Given the description of an element on the screen output the (x, y) to click on. 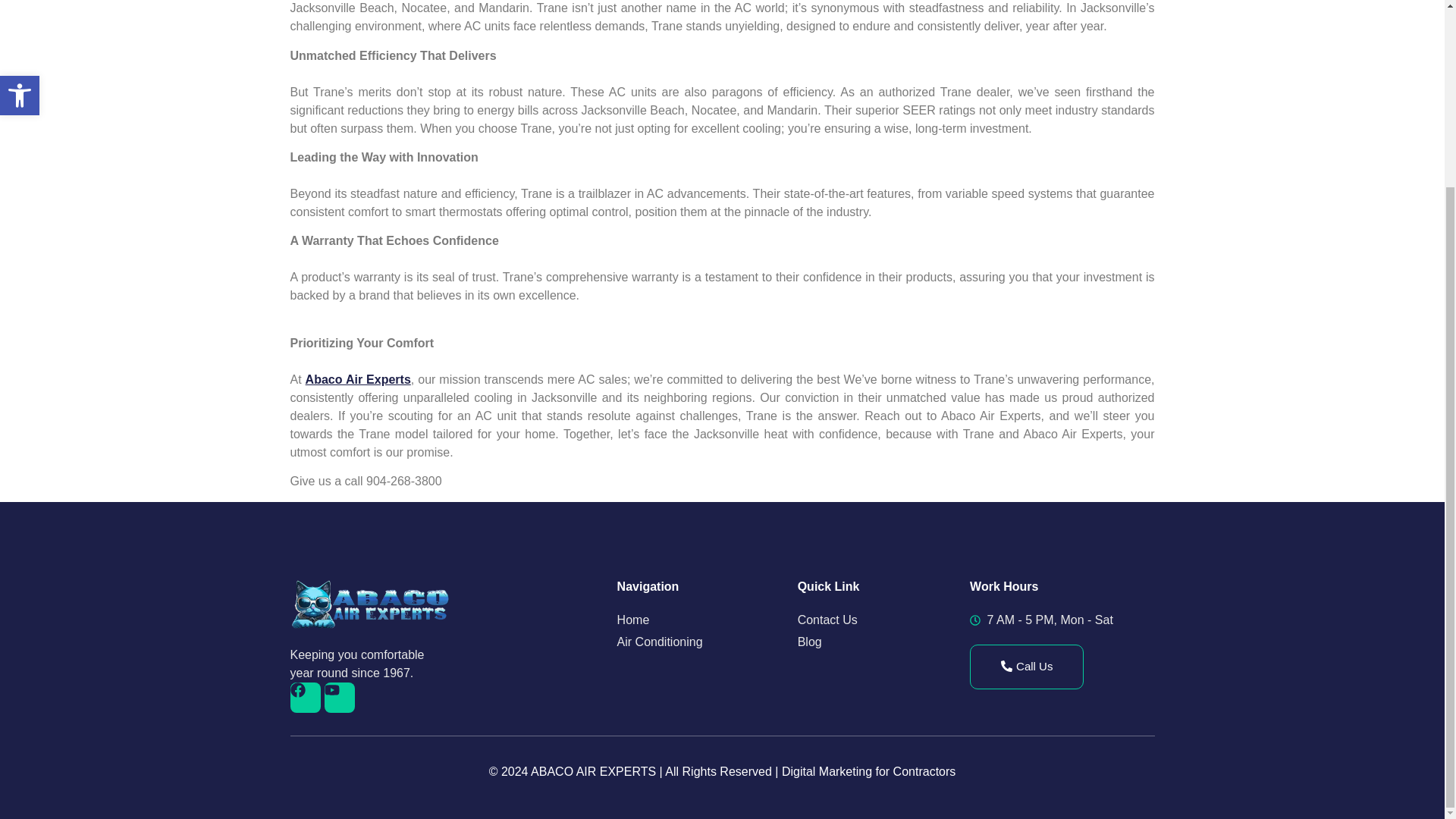
Abaco Air Experts (357, 379)
Digital Marketing for Contractors (868, 771)
Call Us (1026, 666)
Blog (883, 642)
Contact Us (883, 619)
Home (707, 619)
Air Conditioning (707, 642)
